Given the description of an element on the screen output the (x, y) to click on. 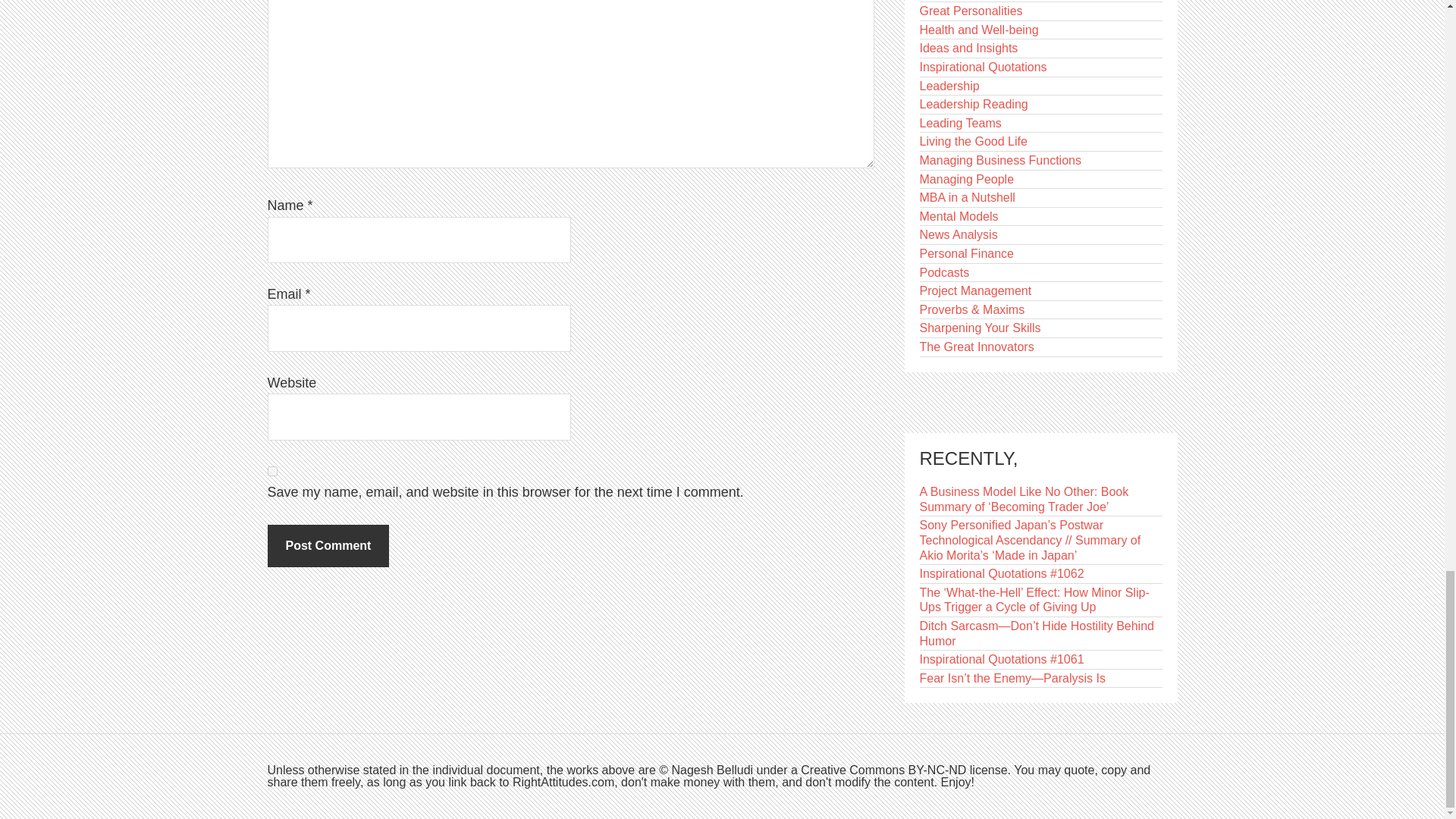
yes (271, 470)
Post Comment (327, 545)
Post Comment (327, 545)
